Given the description of an element on the screen output the (x, y) to click on. 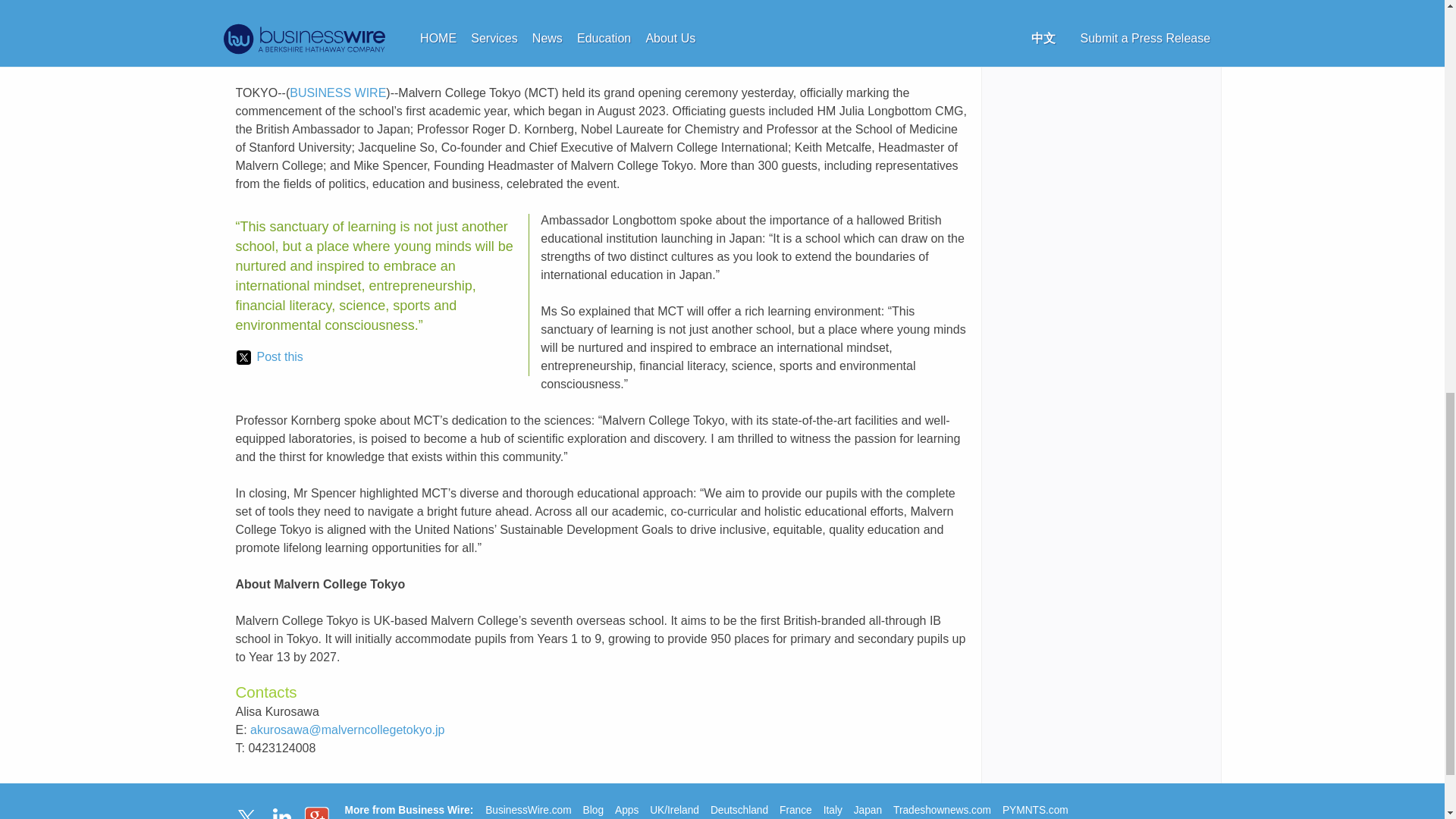
Post this (269, 356)
BUSINESS WIRE (337, 92)
